Given the description of an element on the screen output the (x, y) to click on. 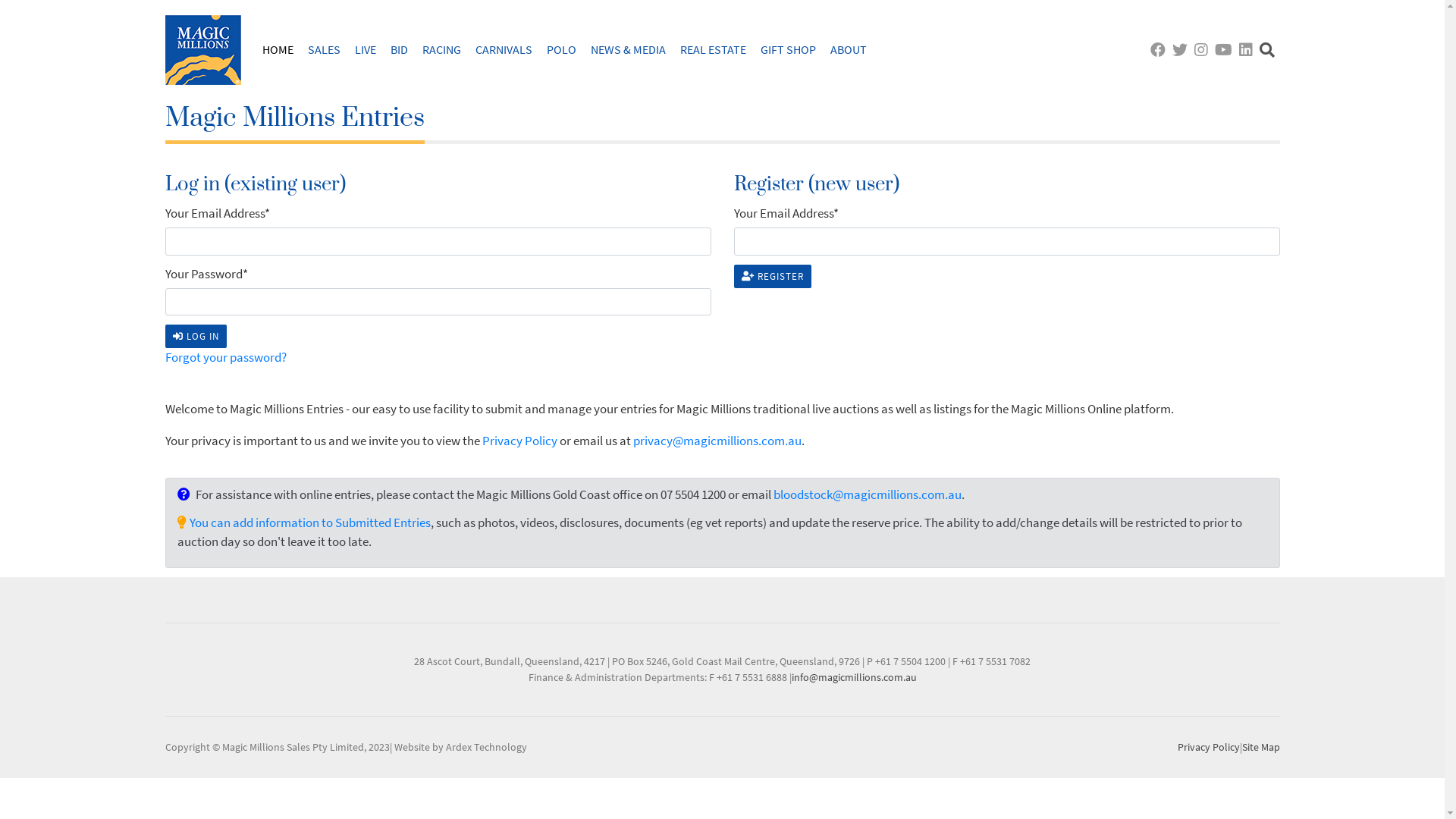
  Element type: text (1225, 49)
 LOG IN Element type: text (195, 336)
You can add information to Submitted Entries Element type: text (309, 522)
Magic Millions Element type: hover (203, 49)
CARNIVALS Element type: text (502, 49)
Site Map Element type: text (1261, 746)
GIFT SHOP Element type: text (787, 49)
Forgot your password? Element type: text (225, 356)
Privacy Policy Element type: text (1207, 746)
HOME Element type: text (277, 49)
  Element type: text (1268, 49)
privacy@magicmillions.com.au Element type: text (716, 440)
  Element type: text (1247, 49)
Search Element type: hover (1268, 49)
Facebook Element type: hover (1159, 49)
Twitter Element type: hover (1181, 49)
REAL ESTATE Element type: text (712, 49)
info@magicmillions.com.au Element type: text (853, 677)
Instagram Element type: hover (1202, 49)
Privacy Policy Element type: text (519, 440)
ABOUT Element type: text (847, 49)
RACING Element type: text (440, 49)
 REGISTER Element type: text (772, 276)
SALES Element type: text (323, 49)
NEWS & MEDIA Element type: text (627, 49)
  Element type: text (1202, 49)
BID Element type: text (398, 49)
POLO Element type: text (560, 49)
bloodstock@magicmillions.com.au Element type: text (867, 494)
  Element type: text (1159, 49)
LinkedIn Element type: hover (1247, 49)
YouTube Element type: hover (1225, 49)
  Element type: text (1181, 49)
LIVE Element type: text (365, 49)
